Given the description of an element on the screen output the (x, y) to click on. 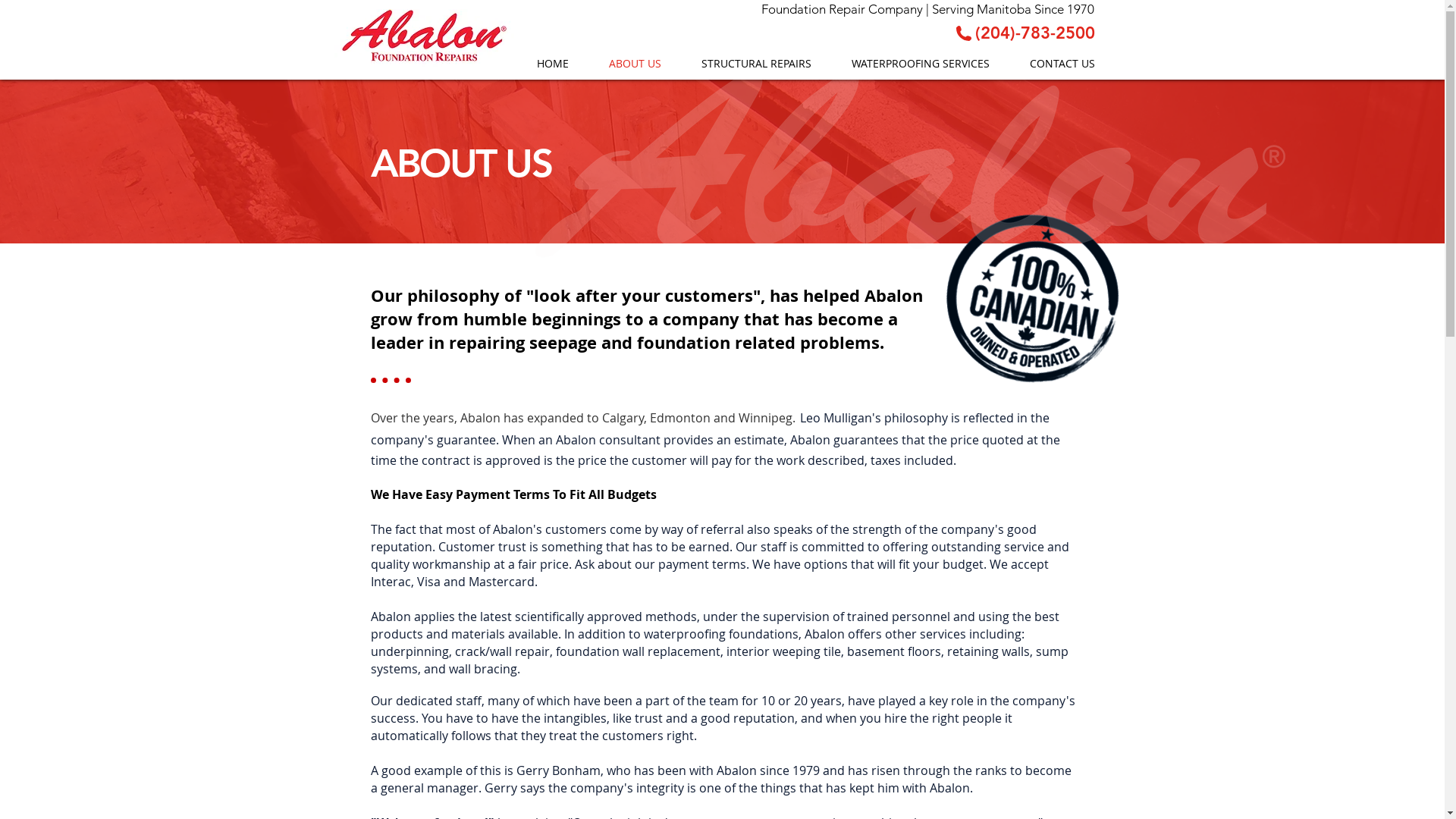
CONTACT US Element type: text (1059, 63)
(204)-783-2500 Element type: text (1035, 32)
WATERPROOFING SERVICES Element type: text (918, 63)
HOME Element type: text (550, 63)
STRUCTURAL REPAIRS Element type: text (754, 63)
ABOUT US Element type: text (632, 63)
